Given the description of an element on the screen output the (x, y) to click on. 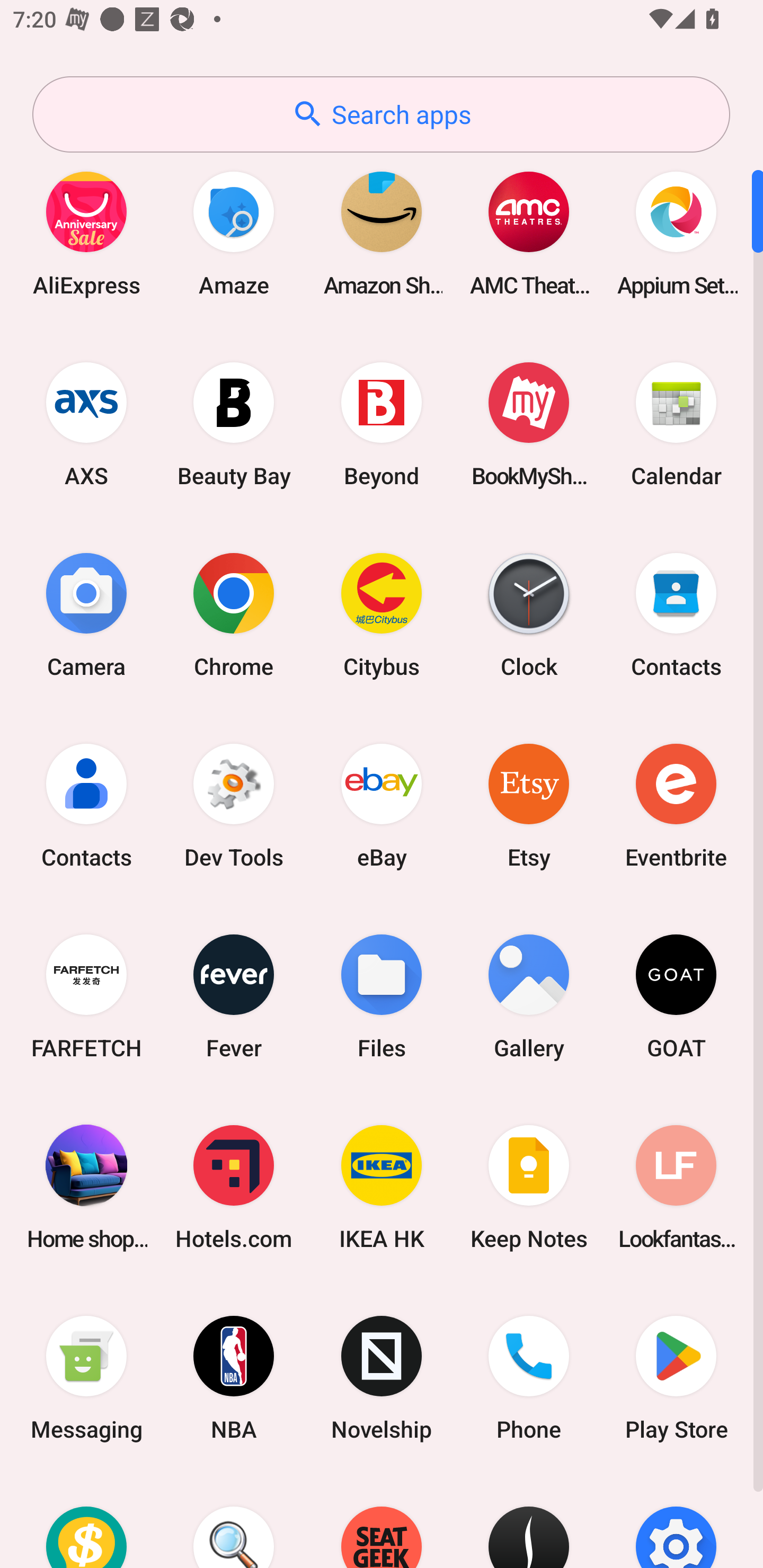
  Search apps (381, 114)
AliExpress (86, 233)
Amaze (233, 233)
Amazon Shopping (381, 233)
AMC Theatres (528, 233)
Appium Settings (676, 233)
AXS (86, 424)
Beauty Bay (233, 424)
Beyond (381, 424)
BookMyShow (528, 424)
Calendar (676, 424)
Camera (86, 614)
Chrome (233, 614)
Citybus (381, 614)
Clock (528, 614)
Contacts (676, 614)
Contacts (86, 805)
Dev Tools (233, 805)
eBay (381, 805)
Etsy (528, 805)
Eventbrite (676, 805)
FARFETCH (86, 996)
Fever (233, 996)
Files (381, 996)
Gallery (528, 996)
GOAT (676, 996)
Home shopping (86, 1186)
Hotels.com (233, 1186)
IKEA HK (381, 1186)
Keep Notes (528, 1186)
Lookfantastic (676, 1186)
Messaging (86, 1377)
NBA (233, 1377)
Novelship (381, 1377)
Phone (528, 1377)
Play Store (676, 1377)
